Given the description of an element on the screen output the (x, y) to click on. 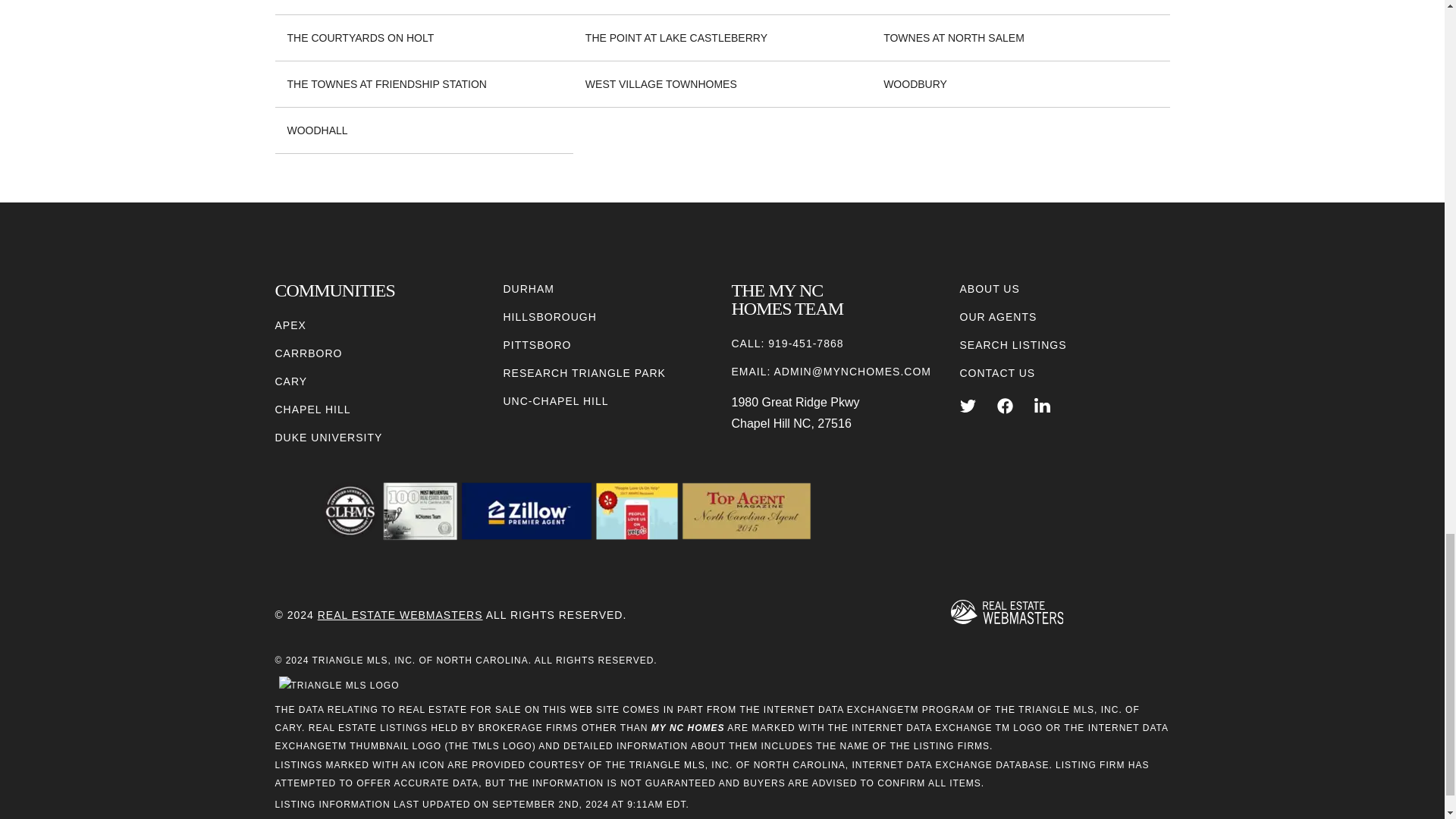
LINKEDIN (1041, 406)
FACEBOOK (1005, 406)
TWITTER (967, 406)
